Given the description of an element on the screen output the (x, y) to click on. 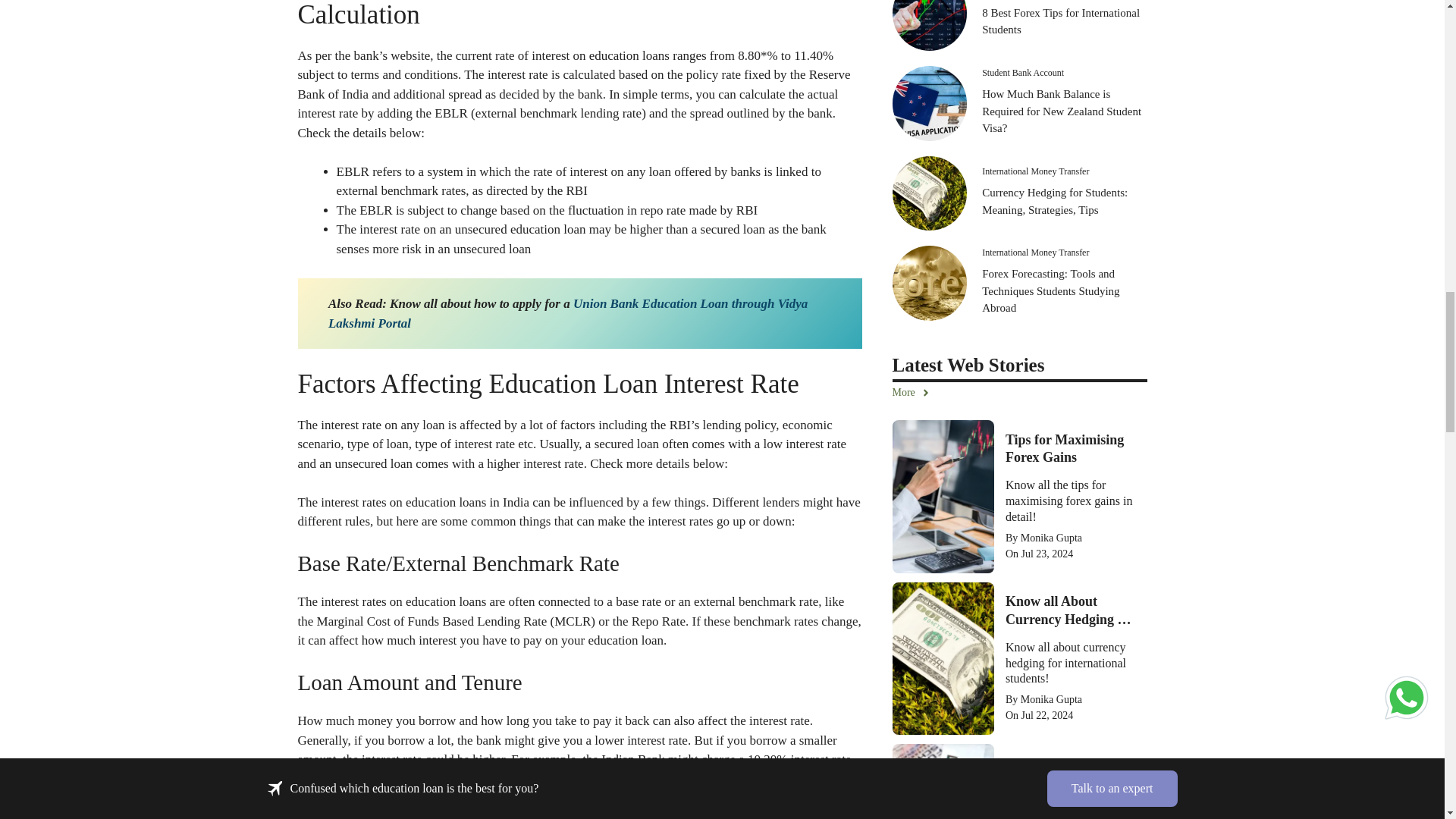
Union Bank Education Loan through Vidya Lakshmi Portal (568, 313)
